Given the description of an element on the screen output the (x, y) to click on. 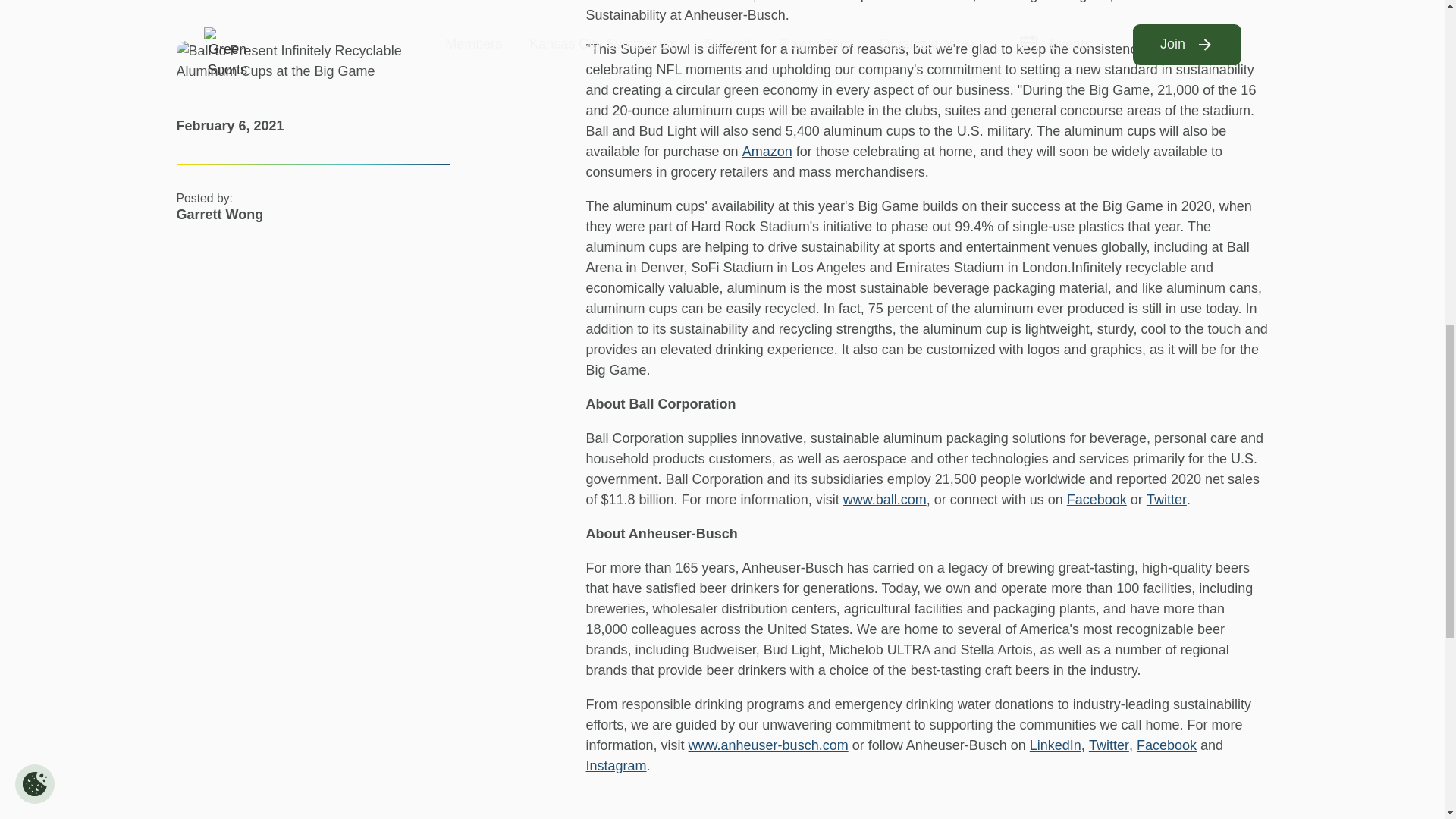
Twitter (1166, 499)
Facebook (1096, 499)
www.ball.com (884, 499)
Amazon (767, 151)
www.anheuser-busch.com (768, 744)
LinkedIn (1055, 744)
